Given the description of an element on the screen output the (x, y) to click on. 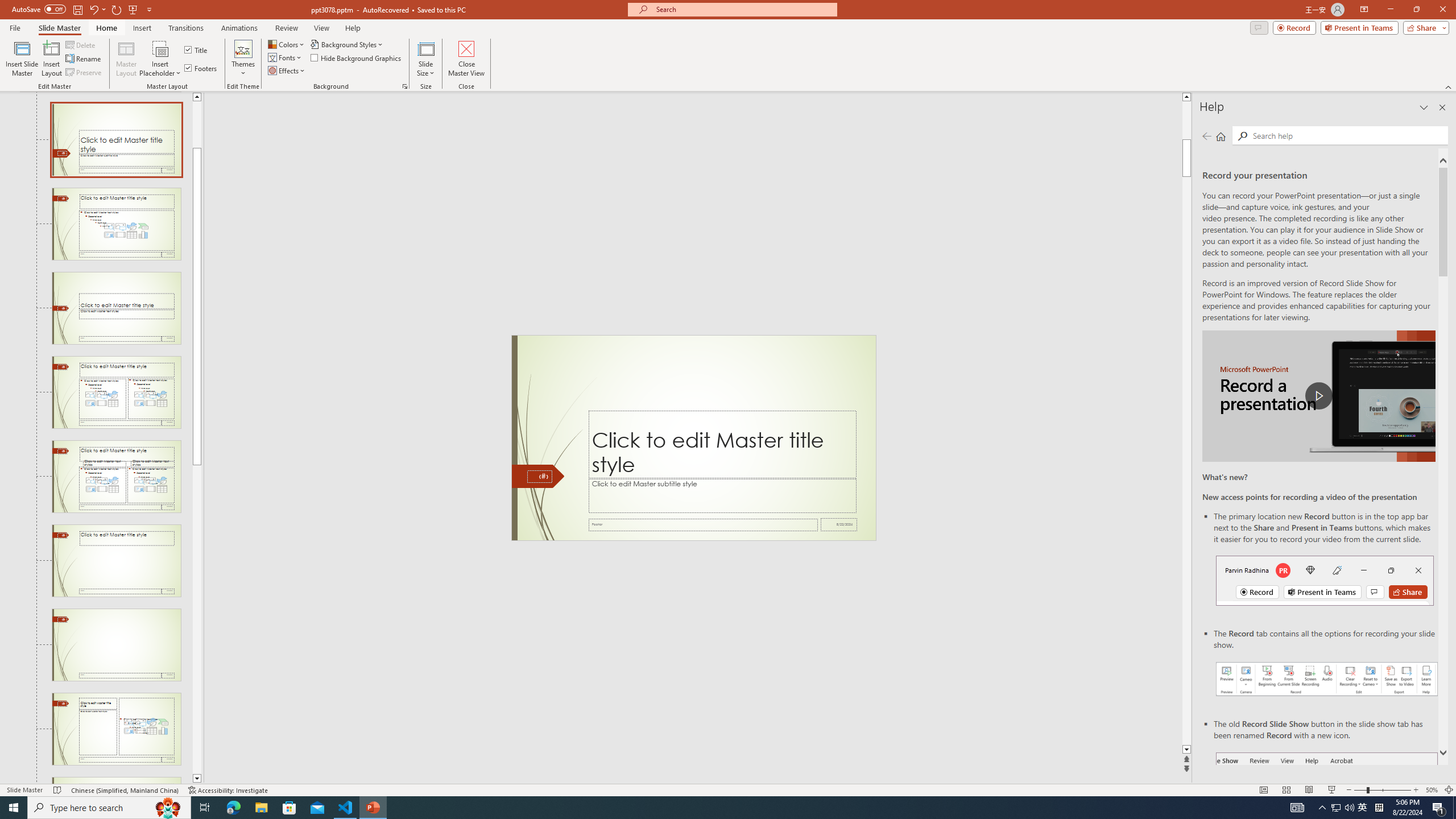
Slide Picture with Caption Layout: used by no slides (116, 780)
Master Layout... (126, 58)
Slide Master (59, 28)
Slide Comparison Layout: used by no slides (116, 476)
Slide Number (539, 476)
Slide Title and Content Layout: used by no slides (116, 223)
